Given the description of an element on the screen output the (x, y) to click on. 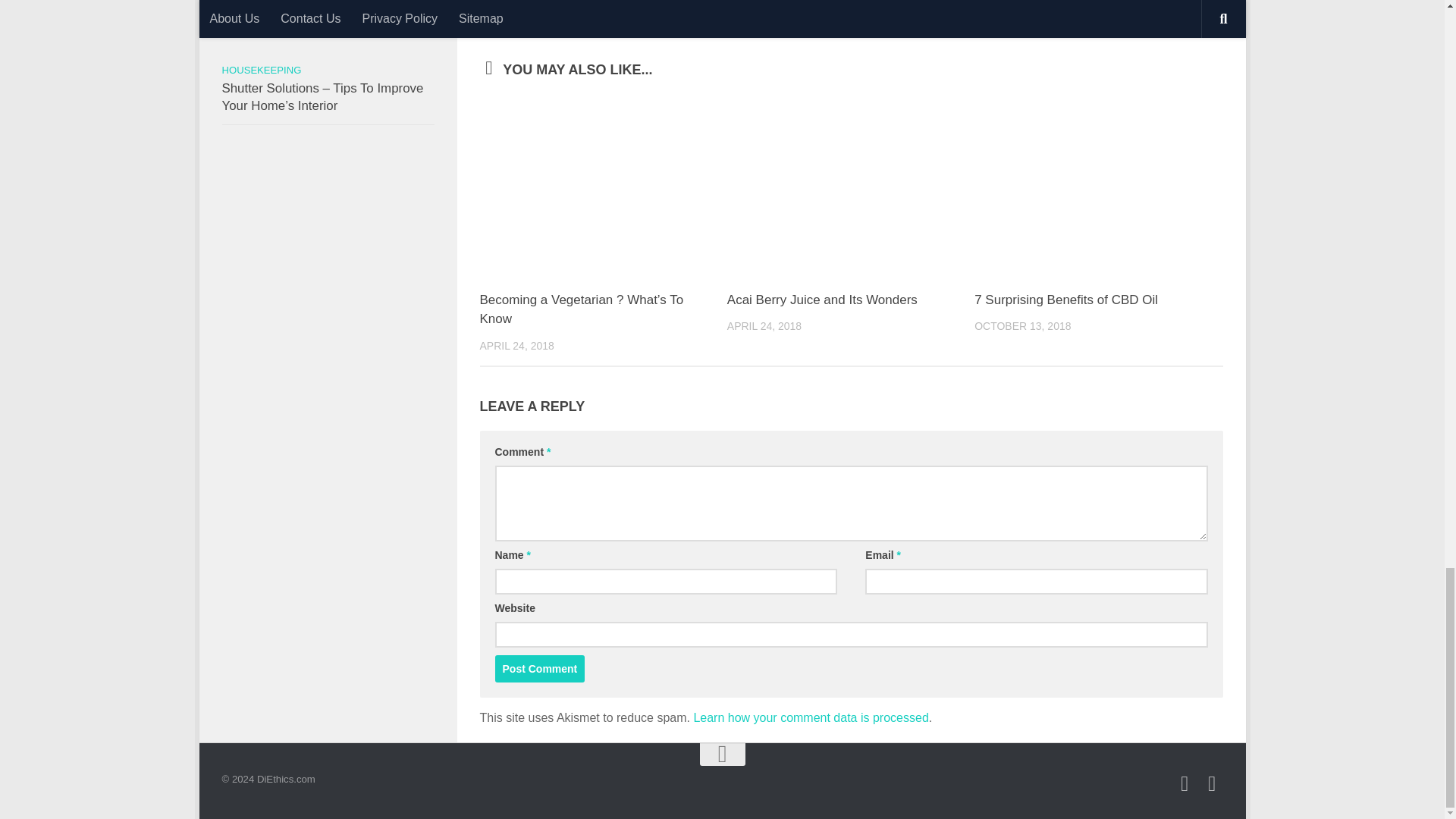
Post Comment (540, 668)
